Given the description of an element on the screen output the (x, y) to click on. 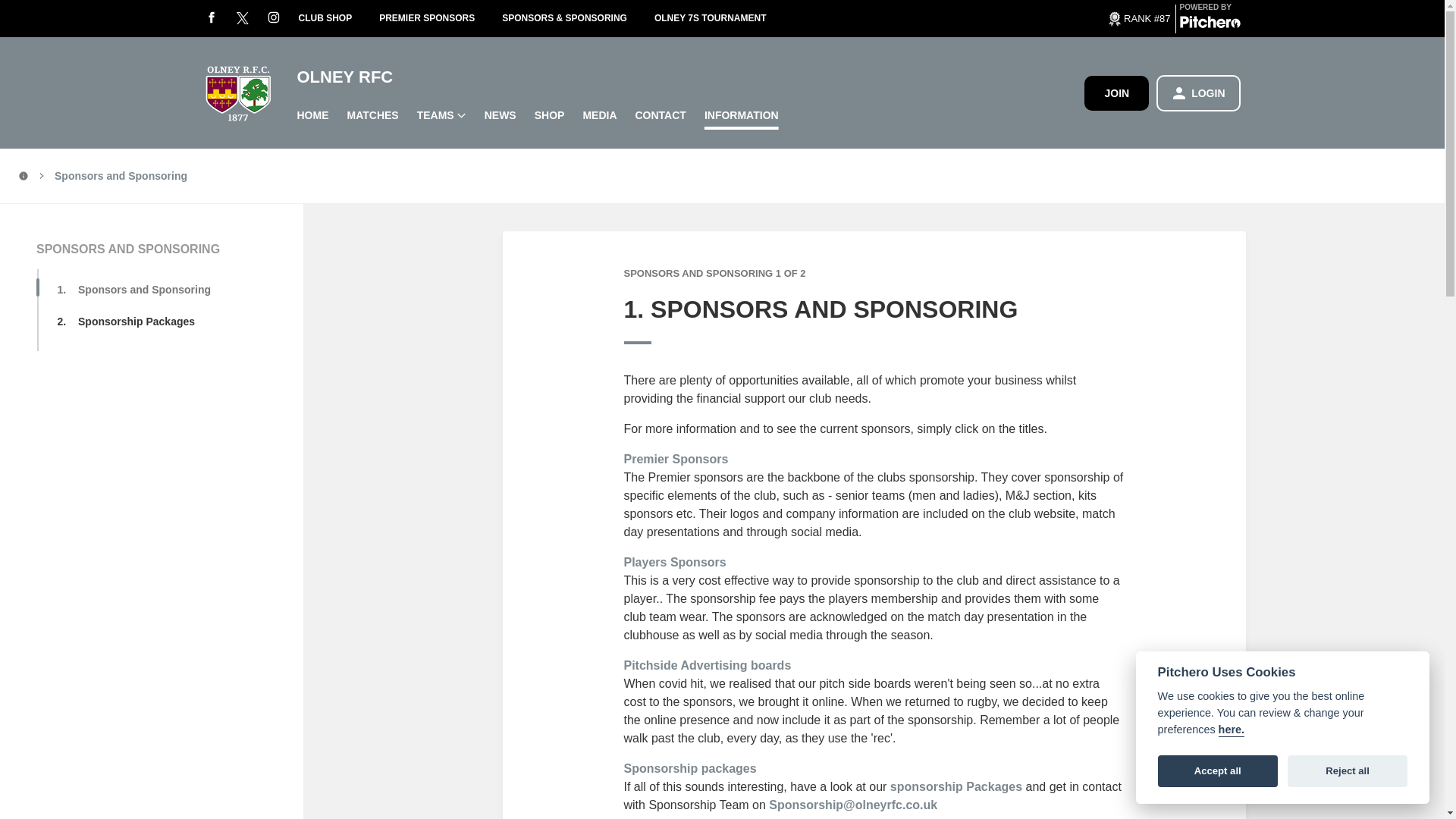
OLNEY 7S TOURNAMENT (723, 18)
MATCHES (372, 115)
HOME (312, 115)
SHOP (549, 115)
LOGIN (1198, 93)
JOIN (1116, 93)
PREMIER SPONSORS (440, 18)
Pitchero (1209, 24)
JOIN (1116, 92)
MEDIA (599, 115)
